Given the description of an element on the screen output the (x, y) to click on. 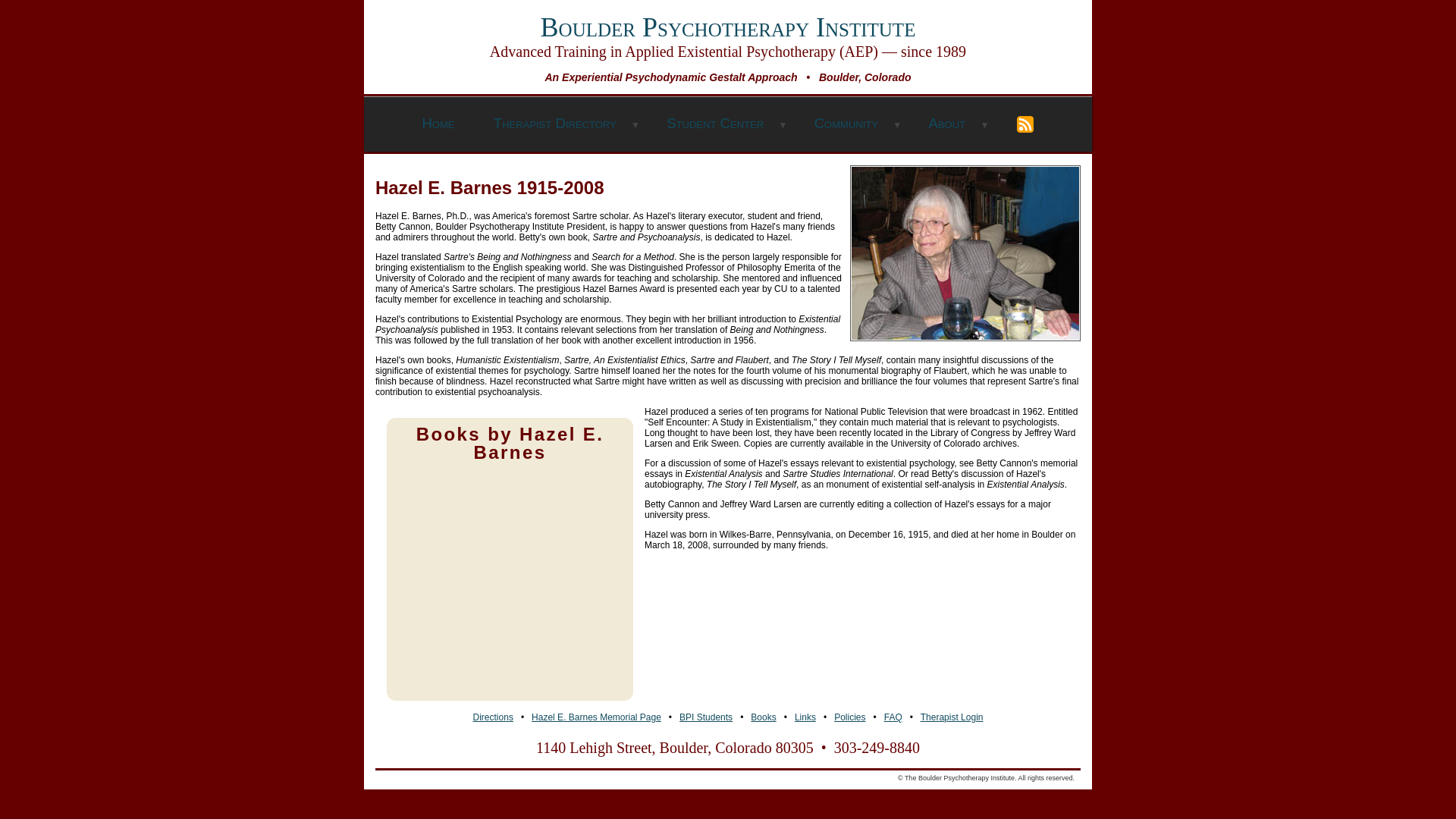
Directions (493, 716)
Community (845, 123)
BPI Students (705, 716)
Therapist Directory (554, 123)
About (945, 123)
Student Center (714, 123)
Home (437, 123)
Policies (849, 716)
RSS Feed (1024, 124)
FAQ (892, 716)
Links (804, 716)
Hazel E. Barnes Memorial Page (596, 716)
Home (437, 123)
Books (763, 716)
Therapist Login (952, 716)
